Given the description of an element on the screen output the (x, y) to click on. 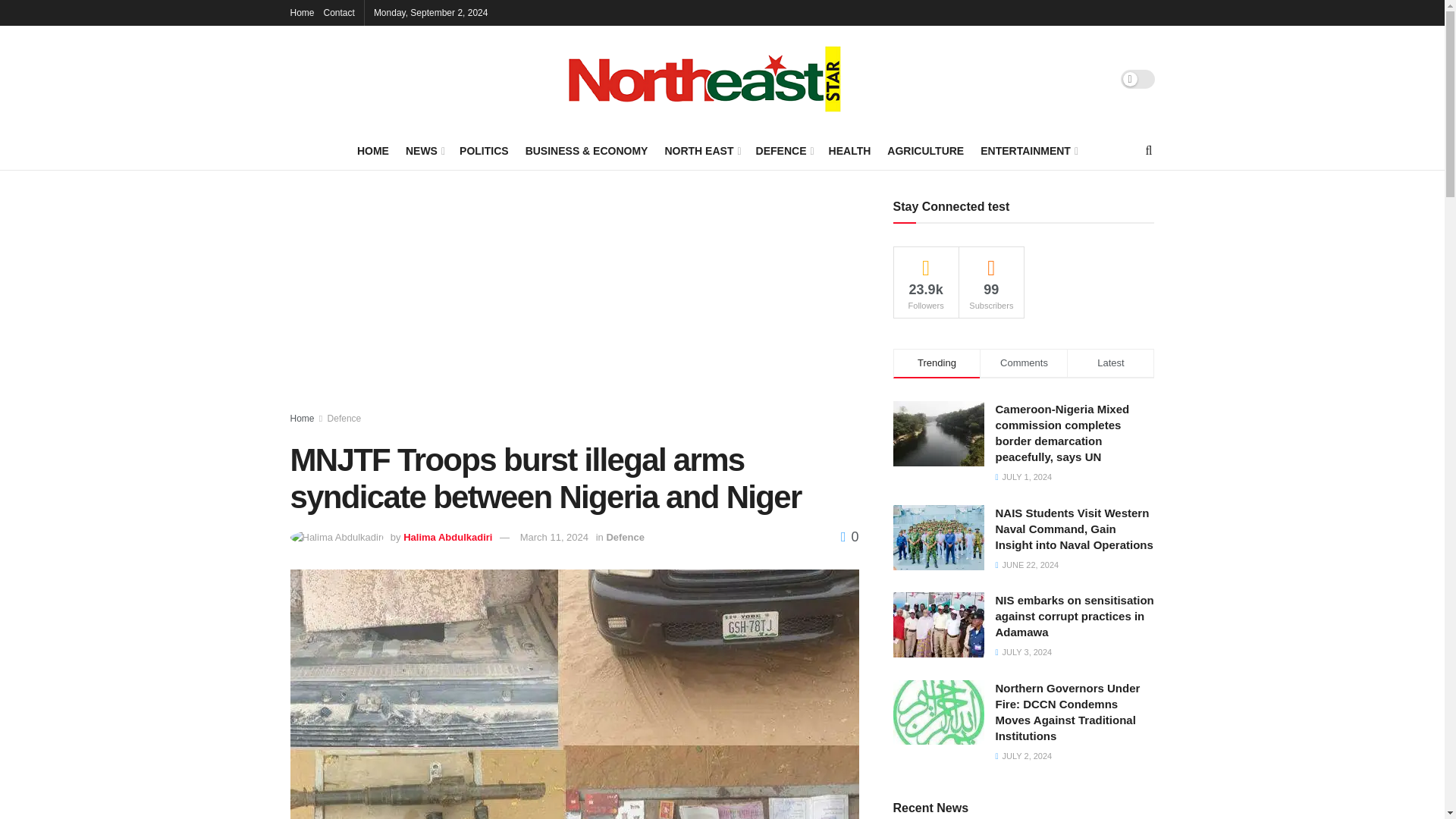
Contact (339, 12)
HOME (372, 150)
NORTH EAST (700, 150)
POLITICS (484, 150)
Home (301, 12)
NEWS (424, 150)
Advertisement (574, 305)
